Given the description of an element on the screen output the (x, y) to click on. 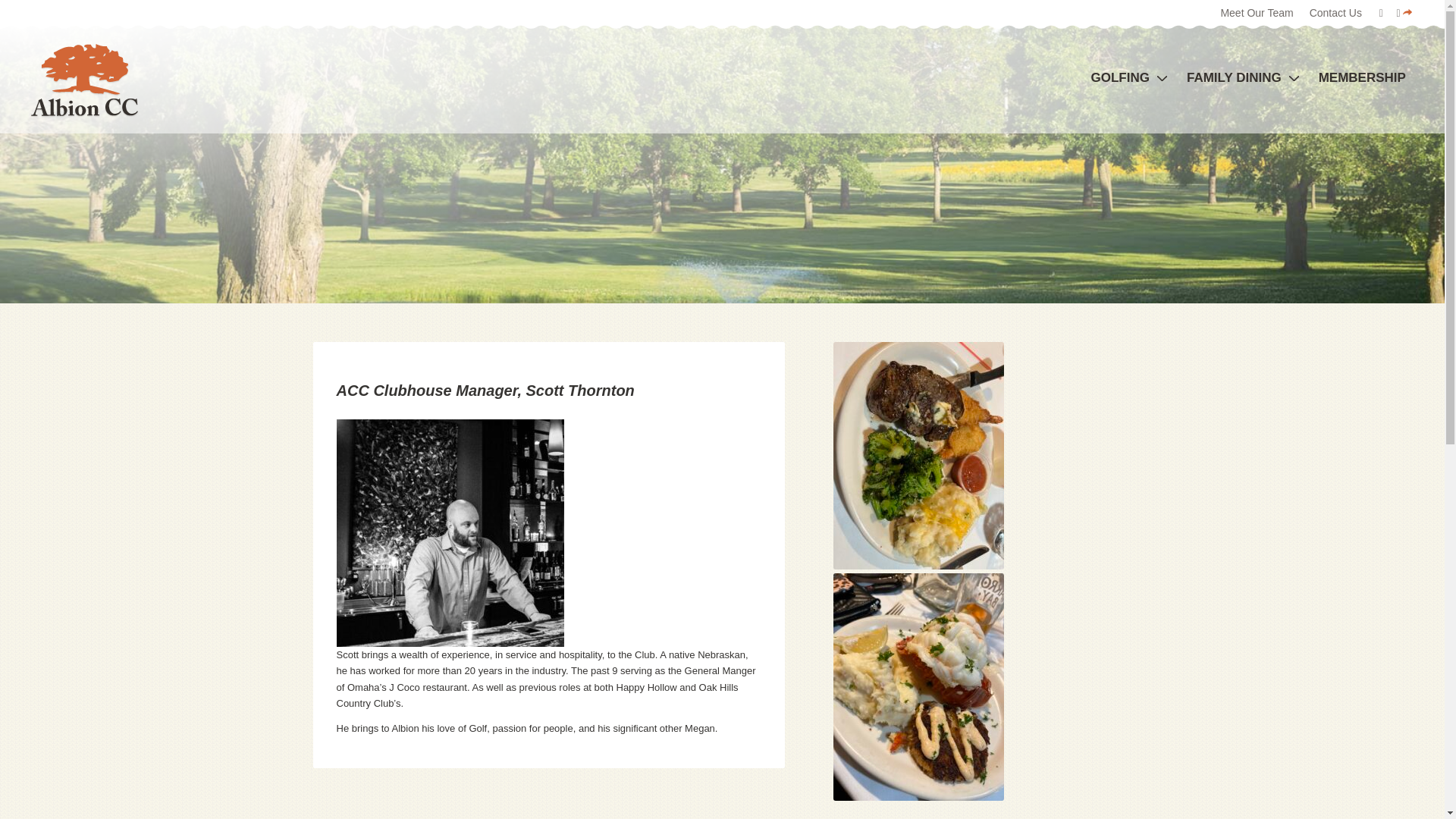
Instagram (1404, 12)
Facebook (1380, 12)
MEMBERSHIP (1361, 77)
IMG-0196 (918, 455)
Albion Country Club logo (84, 79)
GOLFING (1128, 77)
Contact Us (1334, 14)
Meet Our Team (1256, 14)
FAMILY DINING (1242, 77)
66269818115--D5AB7566-2027-4617-A87A-CBC7BEFCF3FF (918, 686)
